Given the description of an element on the screen output the (x, y) to click on. 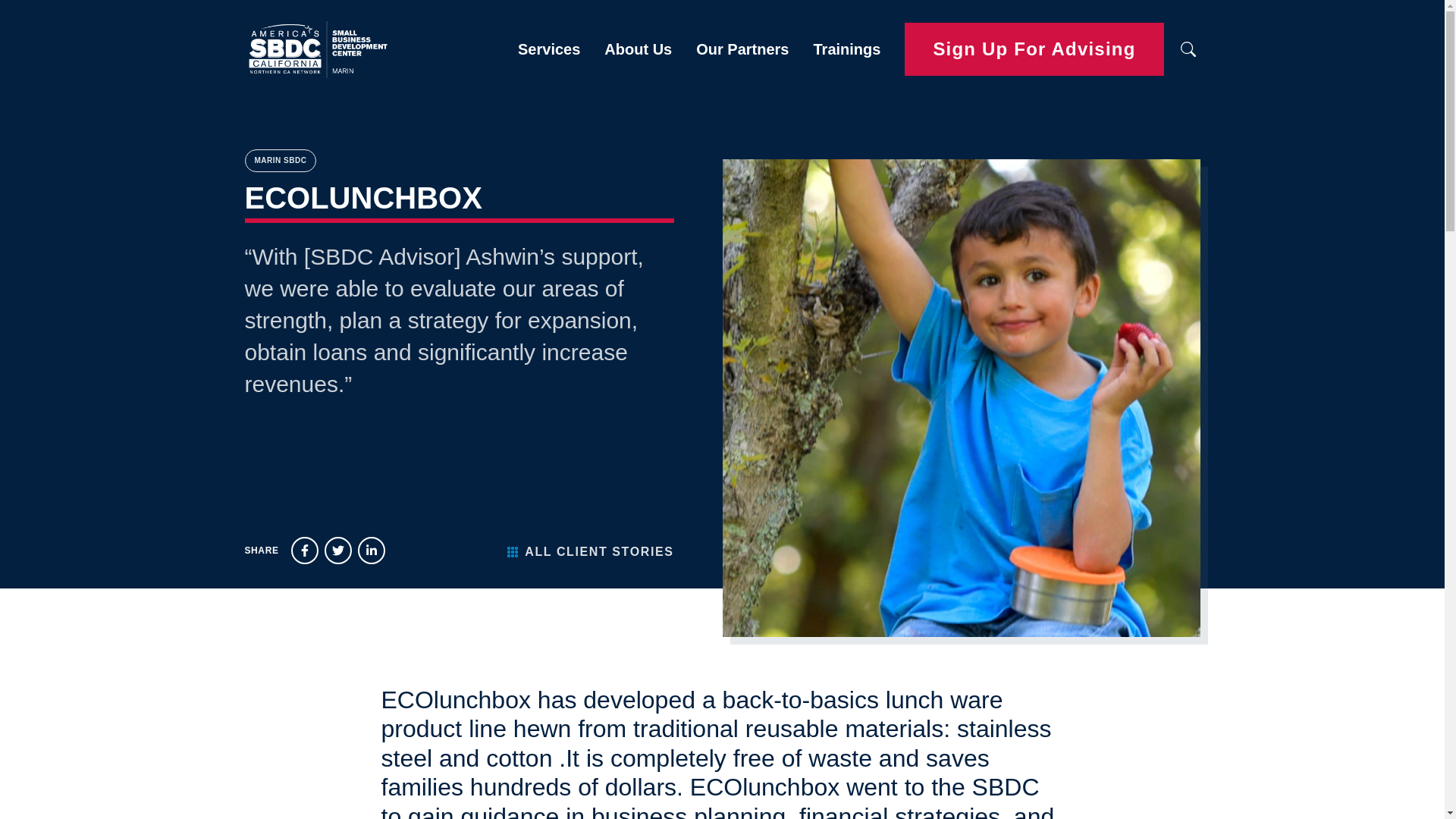
About Us (638, 49)
MARIN SBDC (279, 160)
Trainings (846, 49)
Our Partners (742, 49)
Sign Up For Advising (1033, 49)
